Given the description of an element on the screen output the (x, y) to click on. 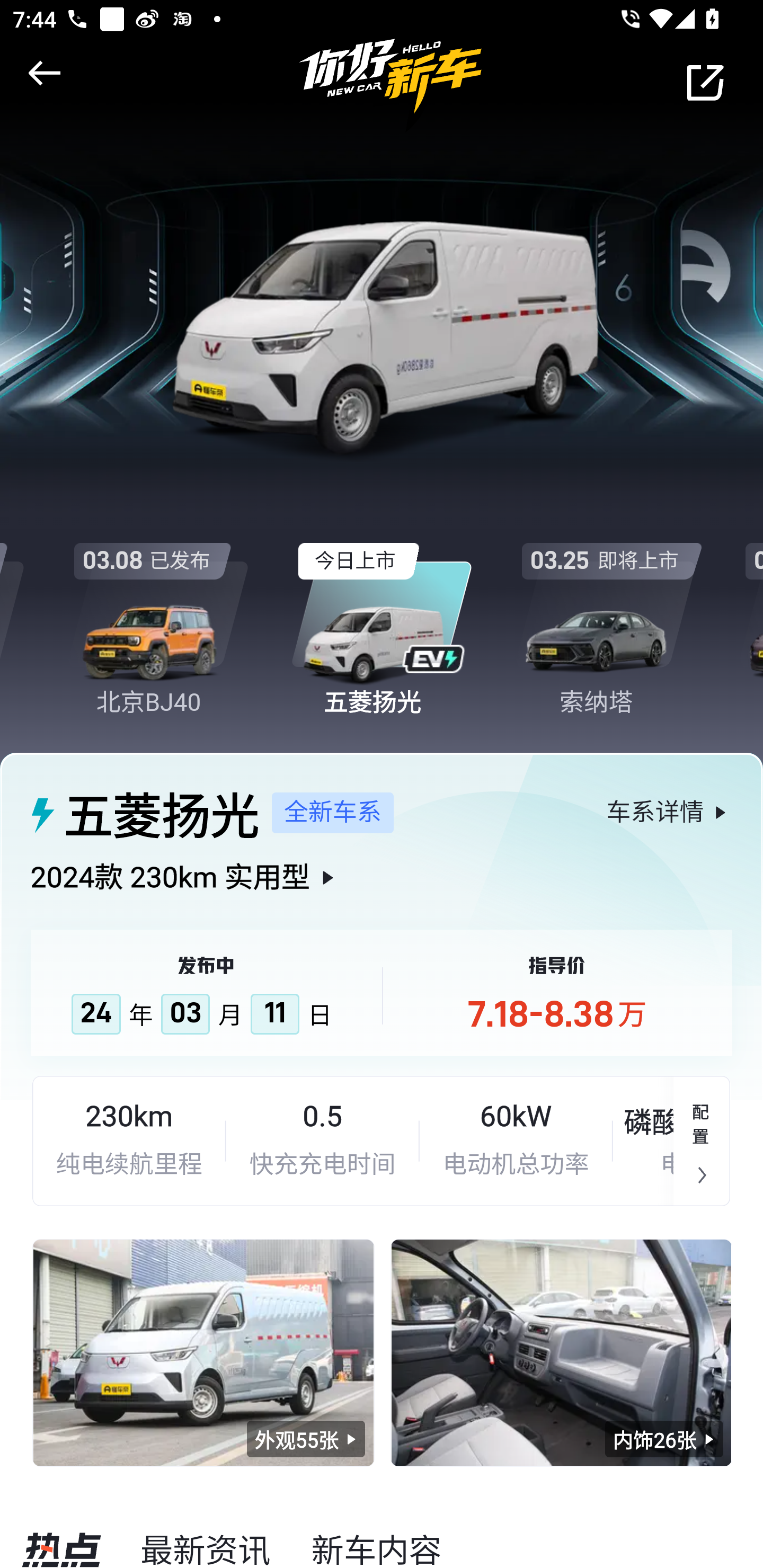
 (41, 72)
03.08 已发布 北京BJ40 (156, 614)
今日上市 五菱扬光 (381, 614)
03.25 即将上市 索纳塔 (605, 614)
车系详情 (668, 812)
2024款 230km 实用型 (381, 891)
配置 (701, 1141)
外观 55 张 (203, 1352)
内饰 26 张 (560, 1352)
外观 55 张 (305, 1439)
内饰 26 张 (664, 1439)
最新资讯 (205, 1546)
新车内容 (376, 1546)
